Given the description of an element on the screen output the (x, y) to click on. 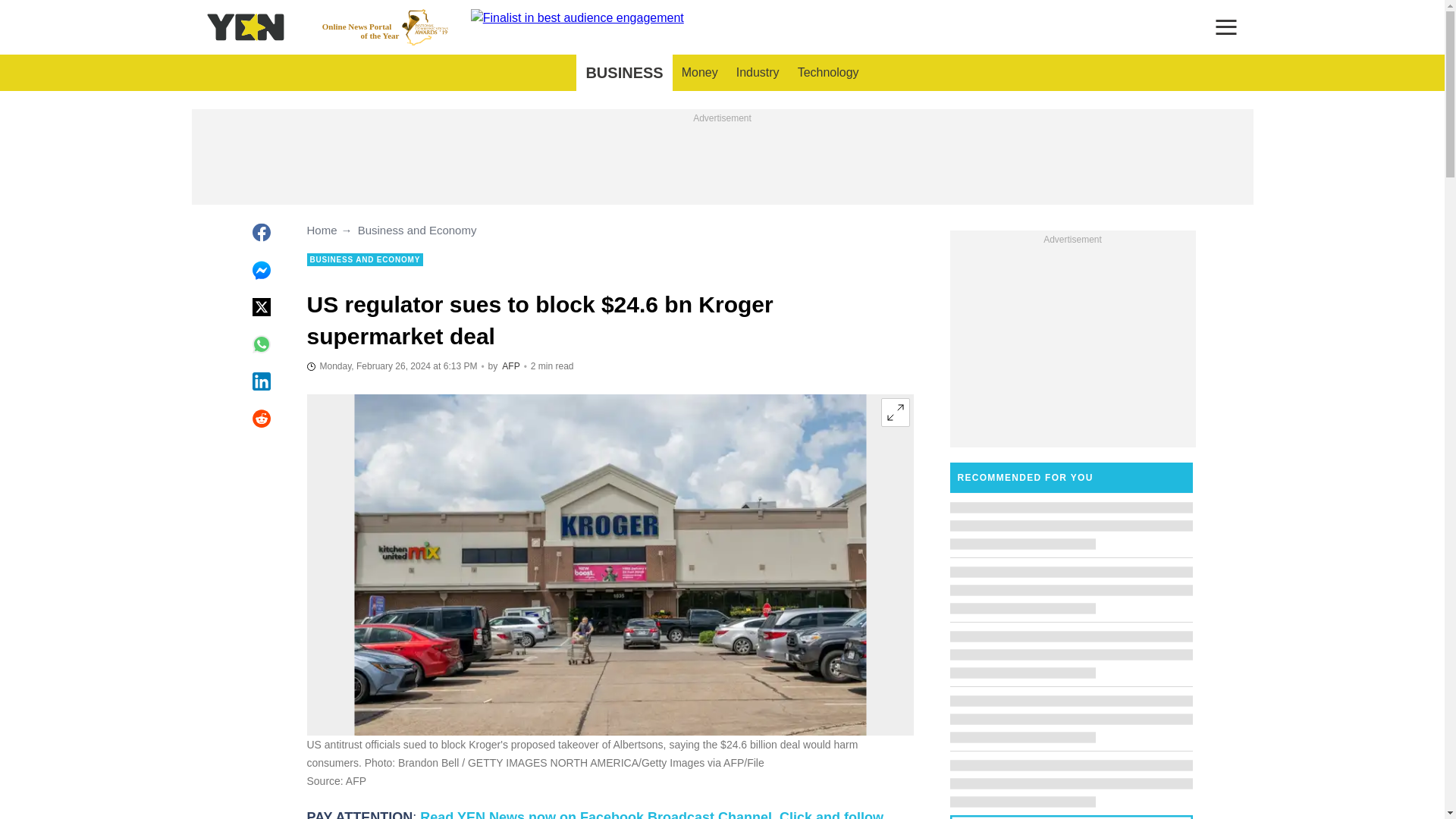
FB Broadcast Channel (594, 814)
2024-02-26T18:13:05Z (391, 366)
Expand image (895, 412)
Money (699, 72)
Author page (510, 366)
Technology (828, 72)
Industry (757, 72)
BUSINESS (623, 72)
